Given the description of an element on the screen output the (x, y) to click on. 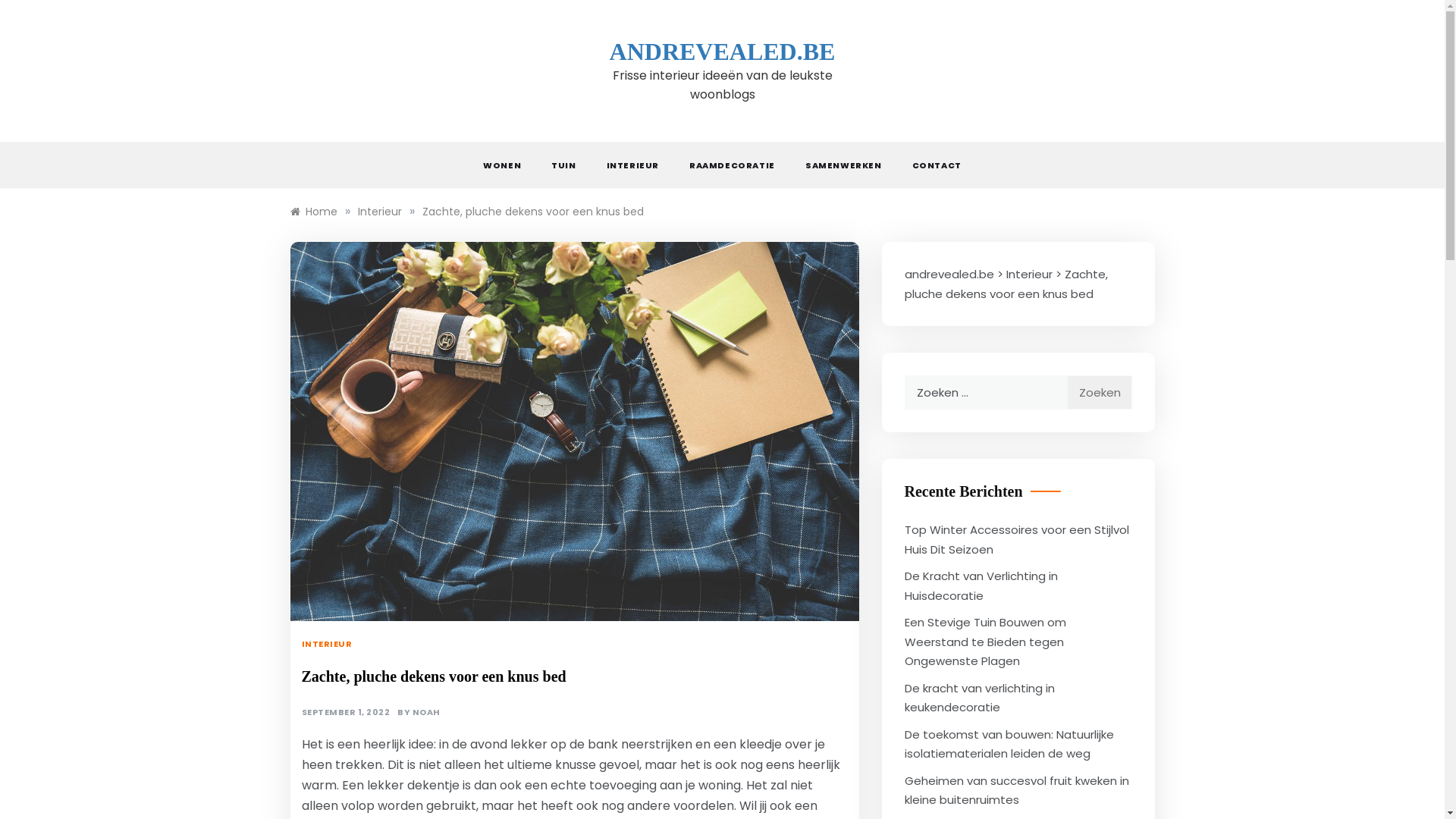
De kracht van verlichting in keukendecoratie Element type: text (978, 697)
Zachte, pluche dekens voor een knus bed Element type: text (1005, 283)
De Kracht van Verlichting in Huisdecoratie Element type: text (980, 585)
Interieur Element type: text (1028, 274)
WONEN Element type: text (509, 165)
RAAMDECORATIE Element type: text (732, 165)
Zachte, pluche dekens voor een knus bed Element type: text (532, 211)
Home Element type: text (312, 211)
NOAH Element type: text (426, 712)
SEPTEMBER 1, 2022 Element type: text (345, 712)
INTERIEUR Element type: text (632, 165)
SAMENWERKEN Element type: text (843, 165)
andrevealed.be Element type: text (948, 274)
Interieur Element type: text (379, 211)
TUIN Element type: text (563, 165)
Geheimen van succesvol fruit kweken in kleine buitenruimtes Element type: text (1015, 789)
Zoeken Element type: text (1098, 392)
Top Winter Accessoires voor een Stijlvol Huis Dit Seizoen Element type: text (1015, 539)
CONTACT Element type: text (929, 165)
ANDREVEALED.BE Element type: text (722, 51)
INTERIEUR Element type: text (328, 643)
